Given the description of an element on the screen output the (x, y) to click on. 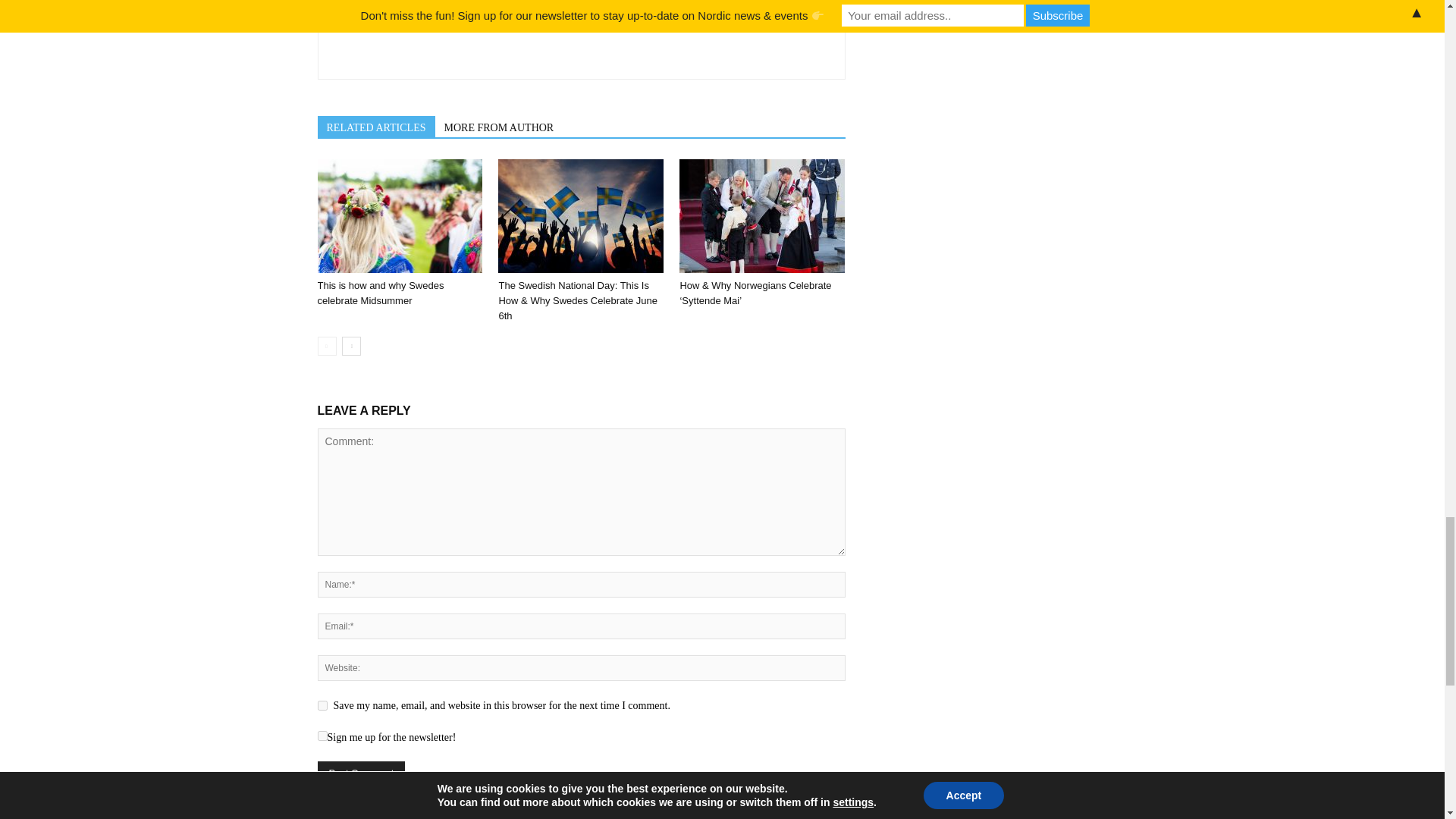
RELATED ARTICLES (375, 126)
This is how and why Swedes celebrate Midsummer (380, 293)
This is how and why Swedes celebrate Midsummer (399, 215)
Post Comment (360, 772)
MORE FROM AUTHOR (499, 126)
Post Comment (360, 772)
yes (321, 705)
This is how and why Swedes celebrate Midsummer (380, 293)
1 (321, 736)
